Given the description of an element on the screen output the (x, y) to click on. 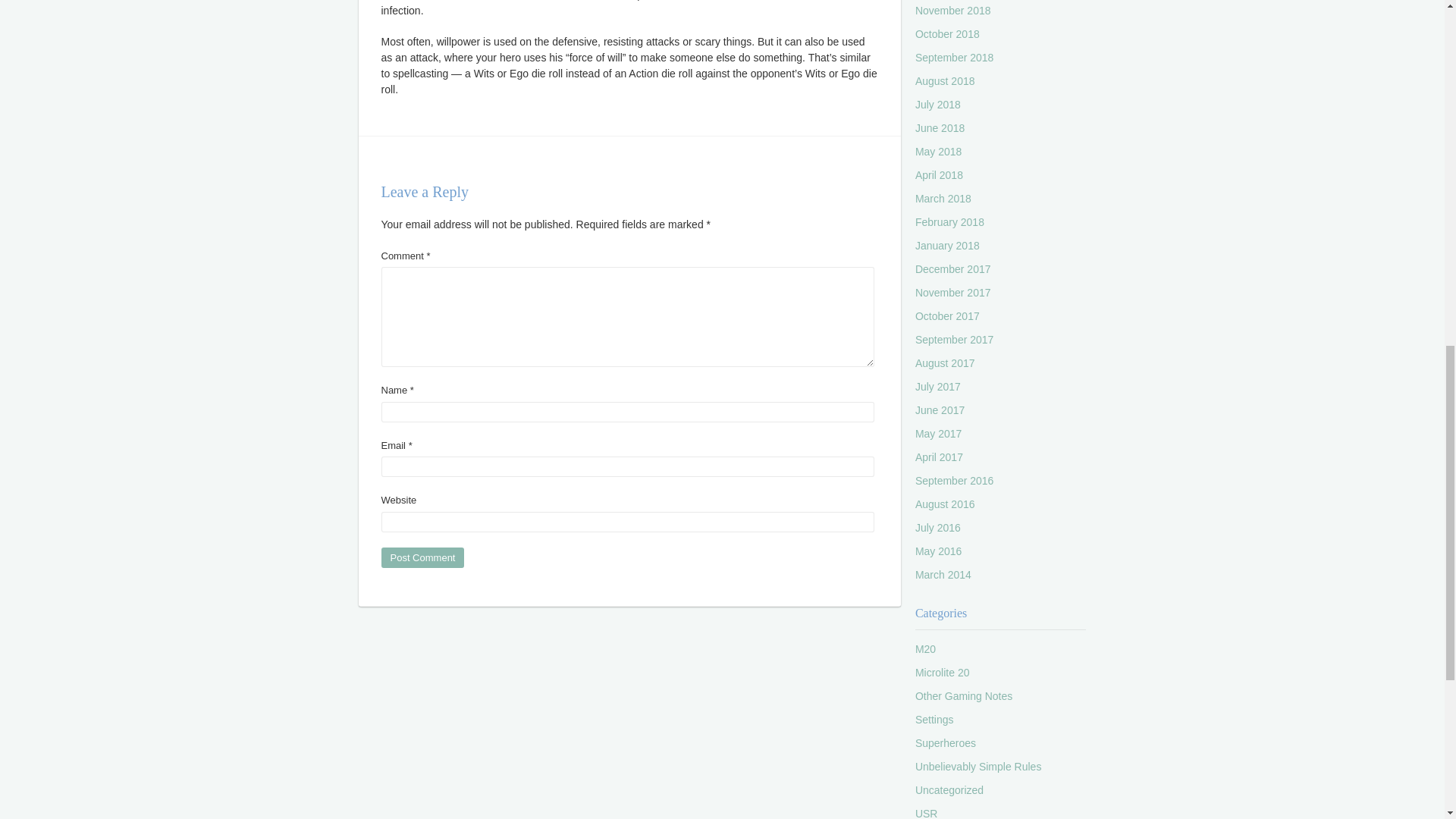
September 2018 (954, 57)
August 2018 (945, 80)
November 2018 (953, 10)
October 2018 (947, 33)
Post Comment (422, 557)
Post Comment (422, 557)
